Given the description of an element on the screen output the (x, y) to click on. 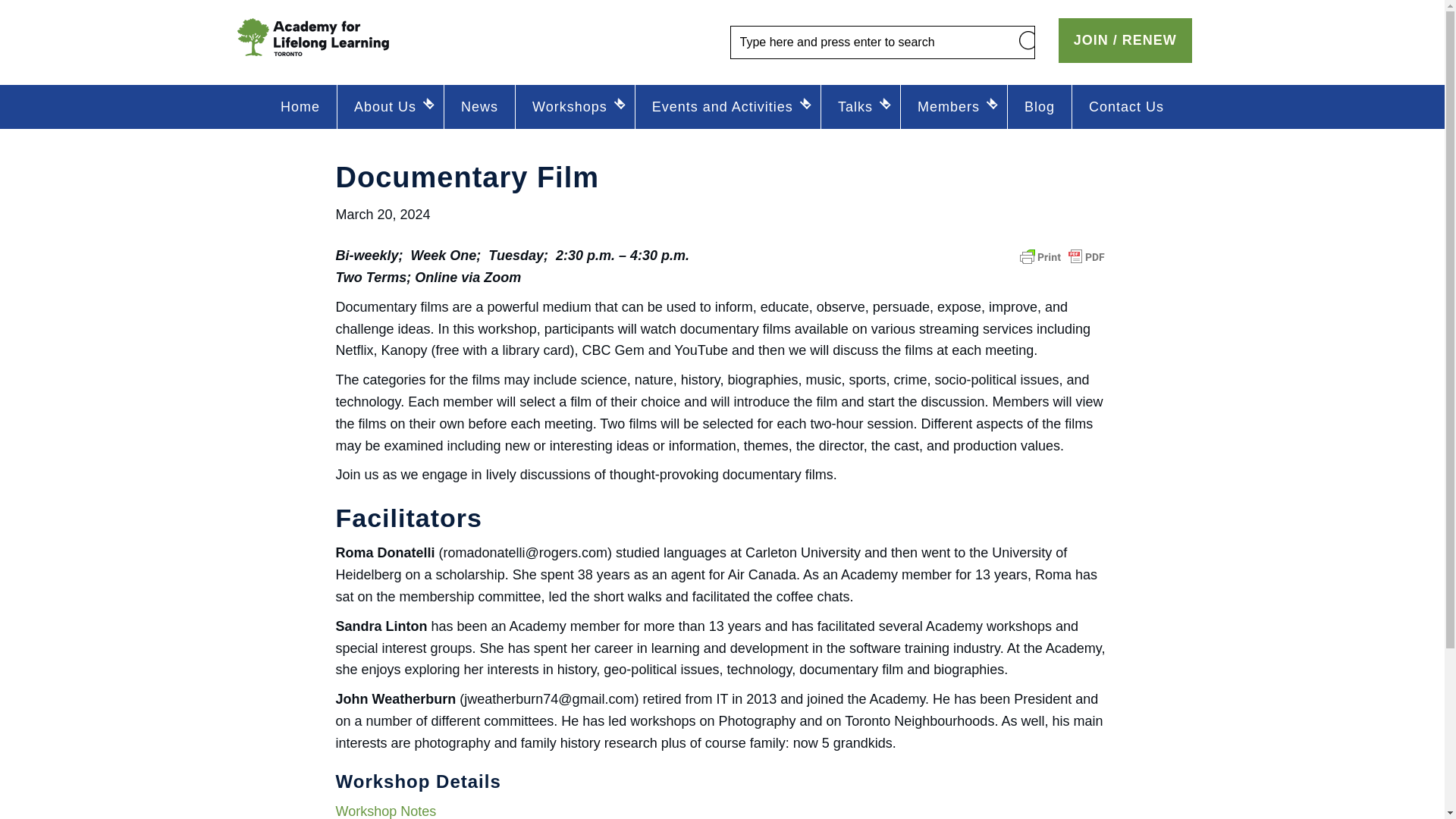
Blog (1039, 106)
Academy for Lifelong Learning Toronto logo (311, 37)
Home (299, 106)
Talks (860, 106)
Events and Activities (727, 106)
Contact Us (1125, 106)
Workshop Notes (384, 811)
News (479, 106)
Workshops (574, 106)
Members (954, 106)
